Given the description of an element on the screen output the (x, y) to click on. 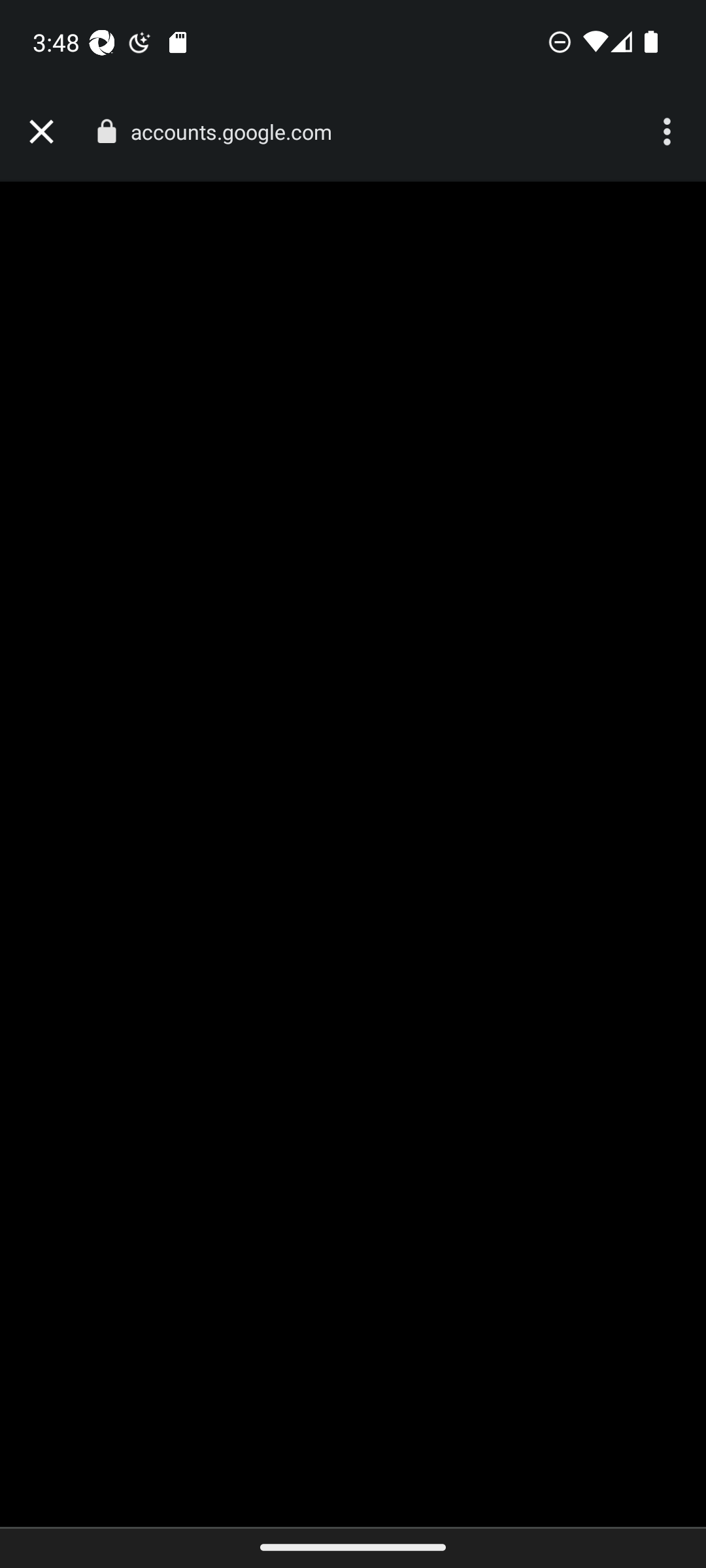
Close tab (41, 131)
More options (669, 131)
Connection is secure (106, 131)
accounts.google.com (237, 131)
